Given the description of an element on the screen output the (x, y) to click on. 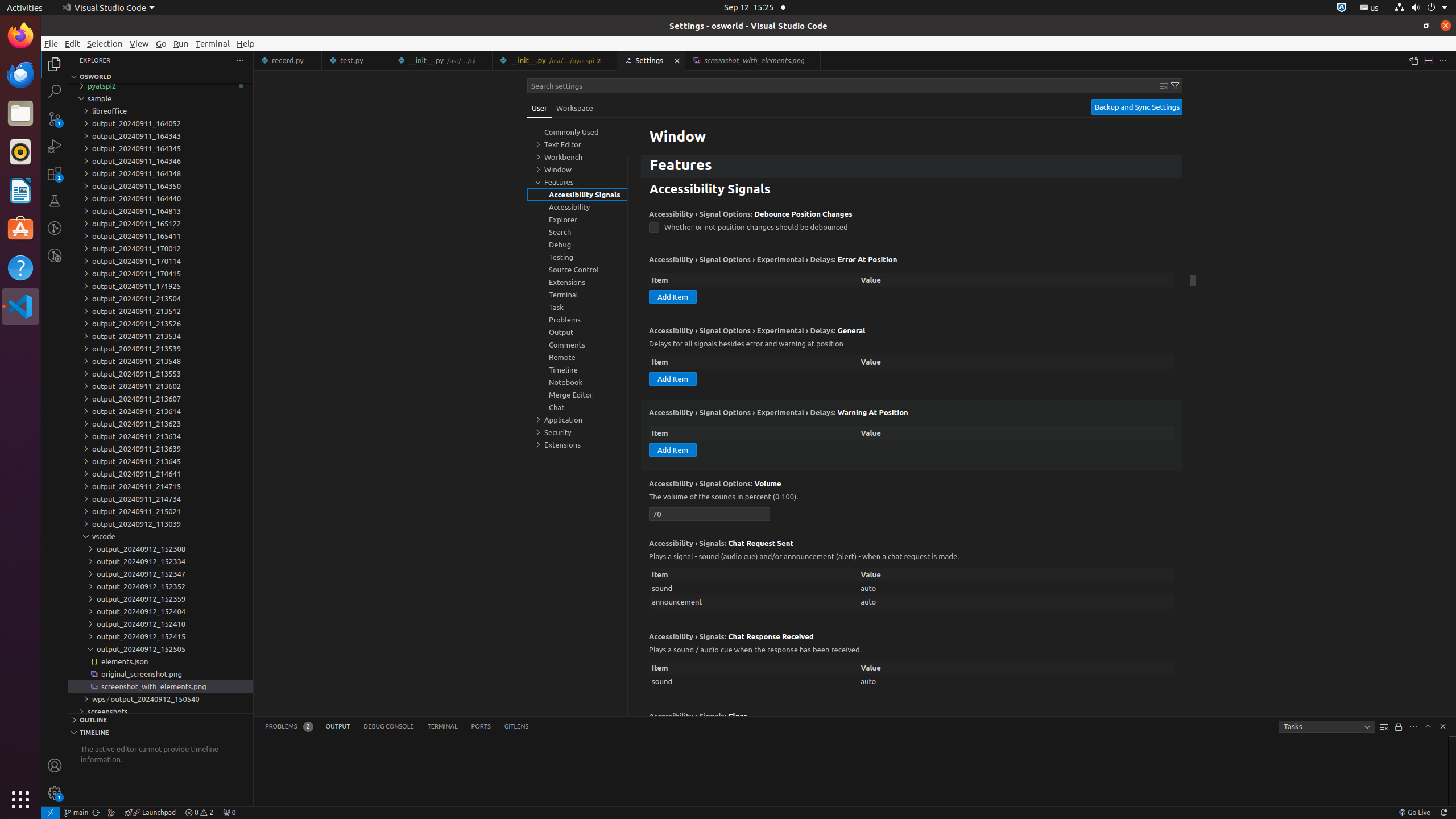
sample Element type: tree-item (160, 98)
Accounts Element type: push-button (54, 765)
Notifications Element type: push-button (1443, 812)
Backup and Sync Settings Element type: push-button (1136, 106)
output_20240911_215021 Element type: tree-item (160, 511)
